Given the description of an element on the screen output the (x, y) to click on. 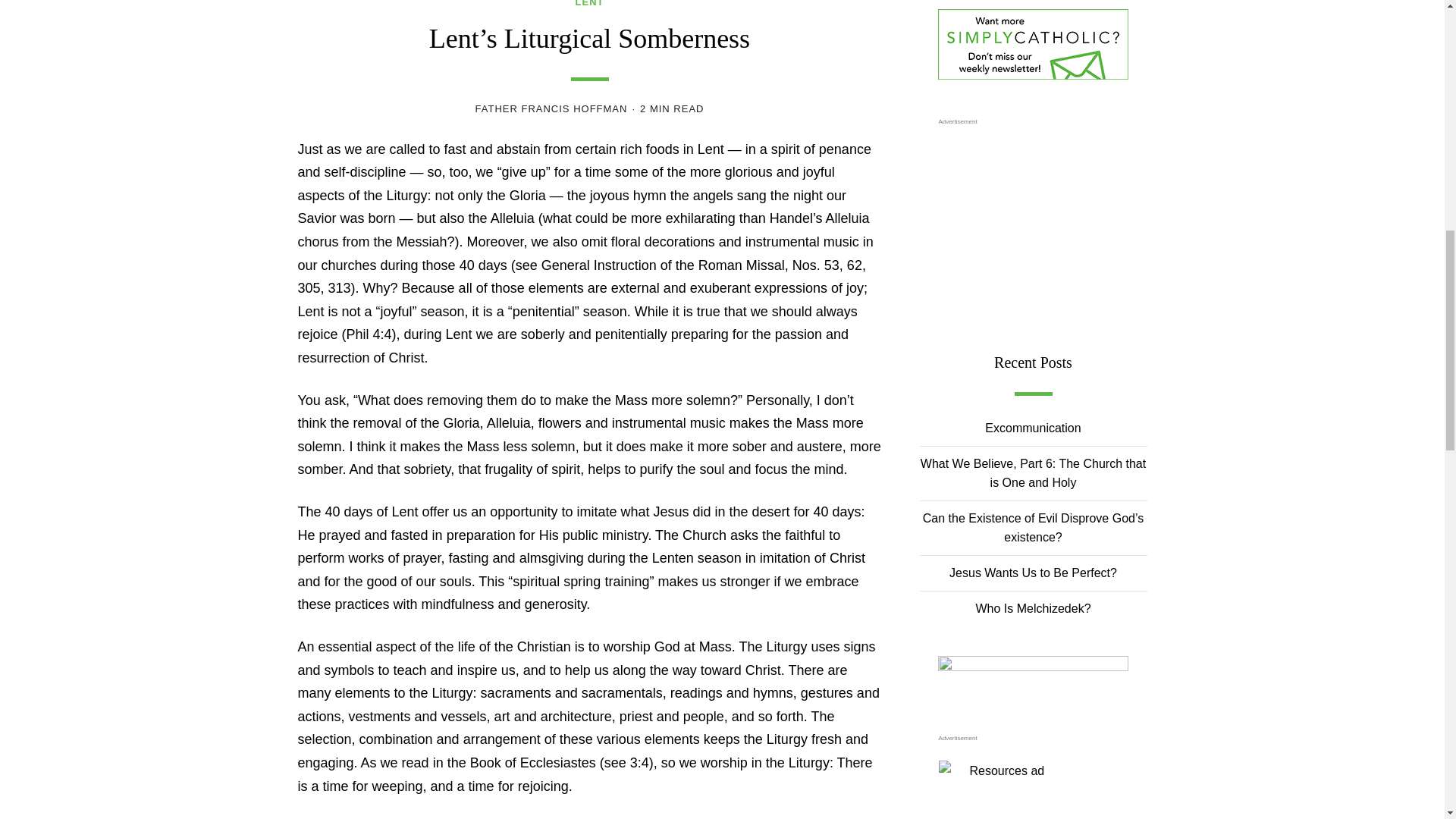
Excommunication (1032, 427)
What We Believe, Part 6: The Church that is One and Holy (1032, 473)
Who Is Melchizedek? (1032, 608)
Jesus Wants Us to Be Perfect? (1032, 572)
FATHER FRANCIS HOFFMAN (551, 108)
Lent (589, 4)
LENT (589, 4)
3rd party ad content (1032, 226)
